Given the description of an element on the screen output the (x, y) to click on. 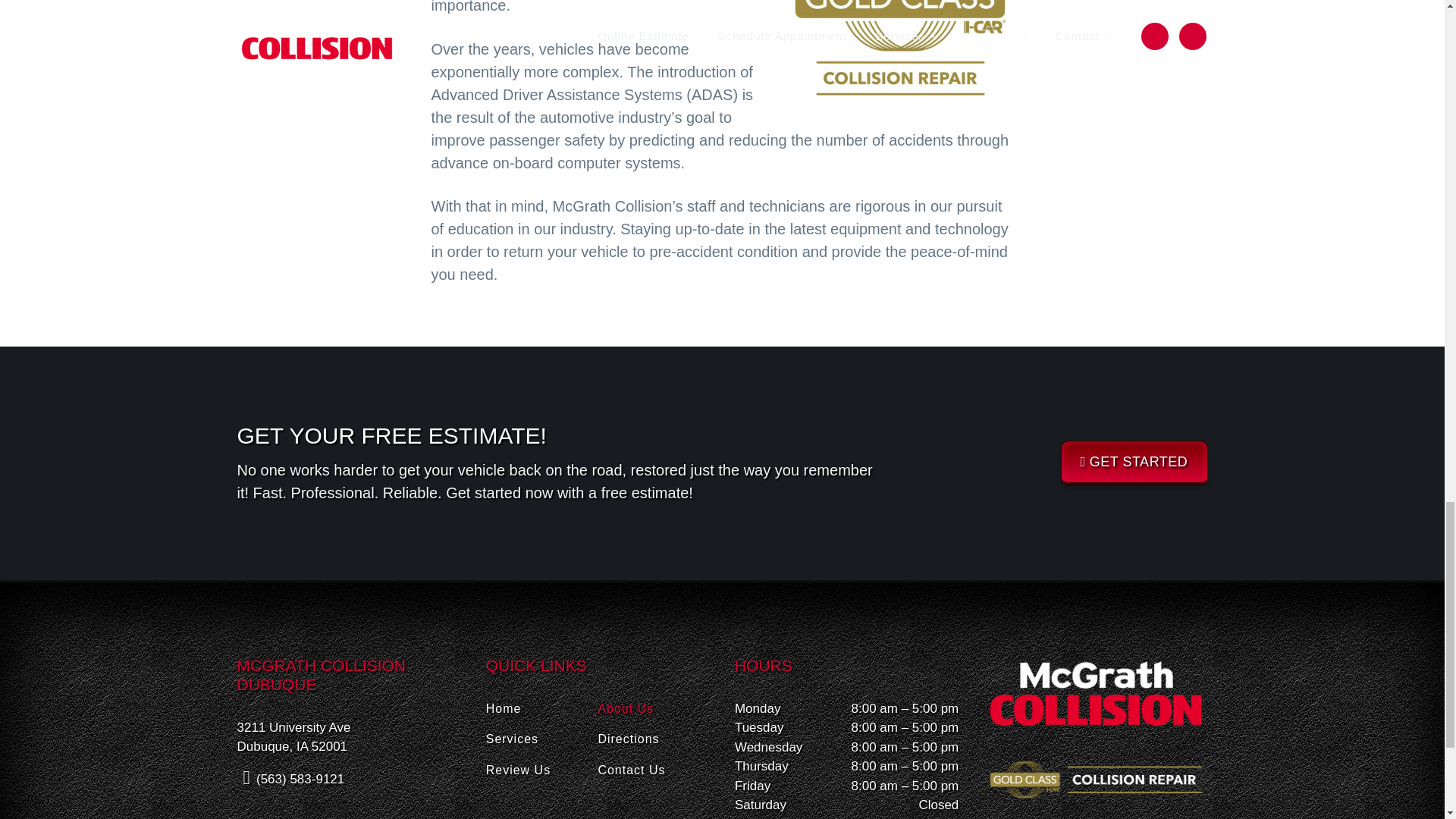
GET STARTED (1134, 463)
Services (542, 739)
Home (542, 709)
Directions (653, 739)
About Us (653, 709)
Review Us (542, 770)
Contact Us (653, 770)
